Given the description of an element on the screen output the (x, y) to click on. 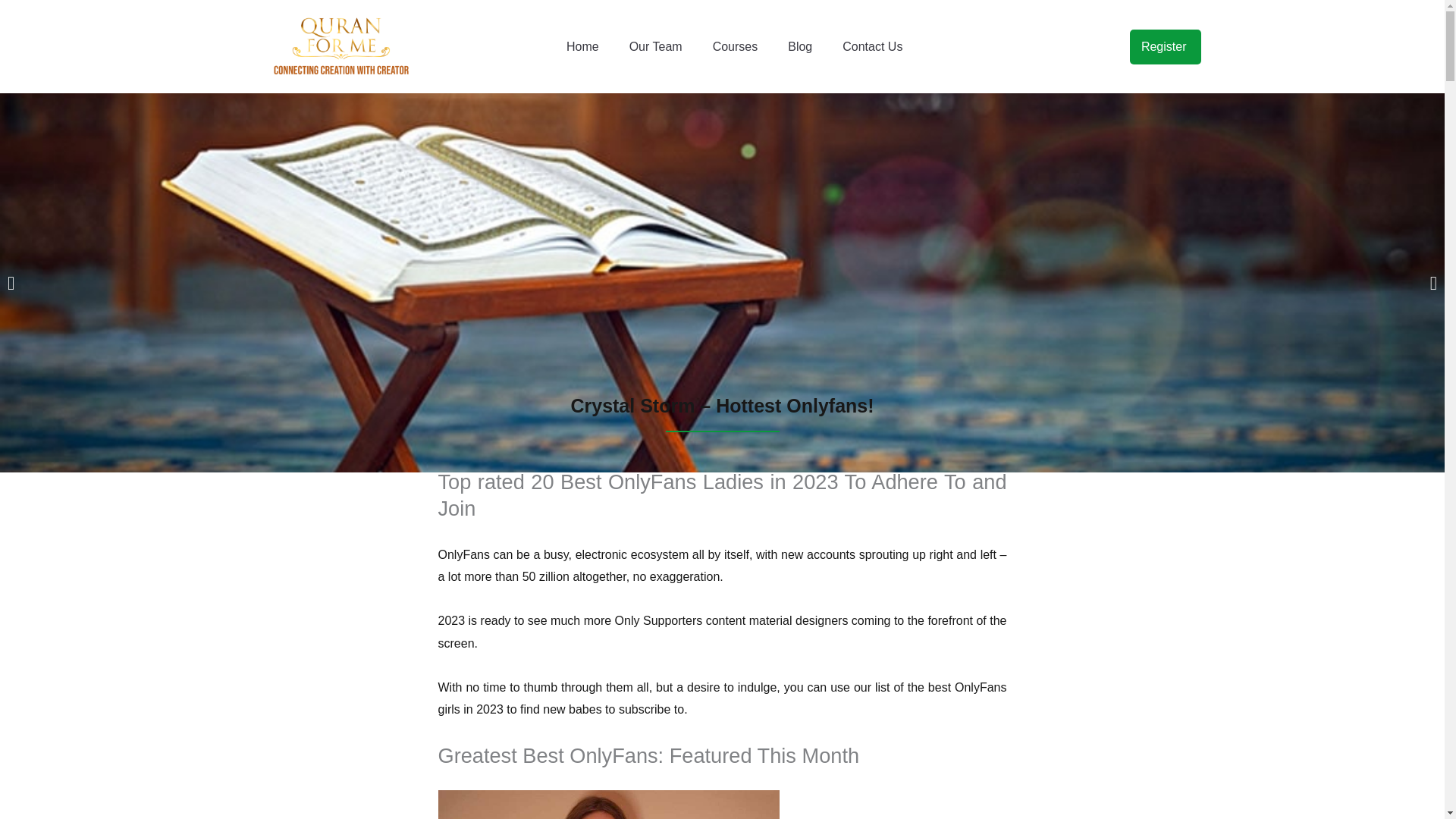
Home (582, 46)
Register (1165, 46)
Our Team (655, 46)
Contact Us (872, 46)
Courses (735, 46)
